Given the description of an element on the screen output the (x, y) to click on. 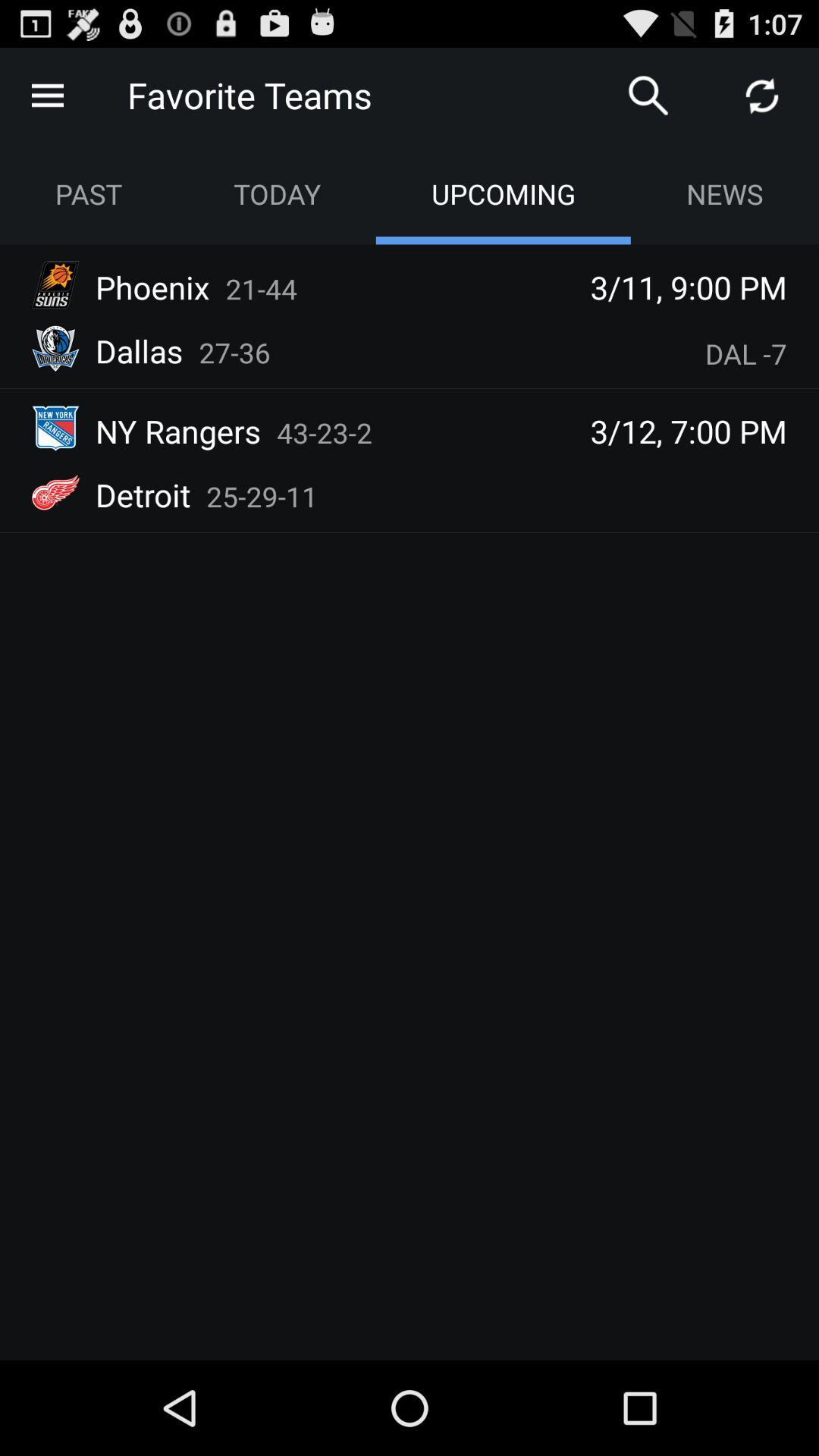
turn off item to the right of today app (648, 95)
